Given the description of an element on the screen output the (x, y) to click on. 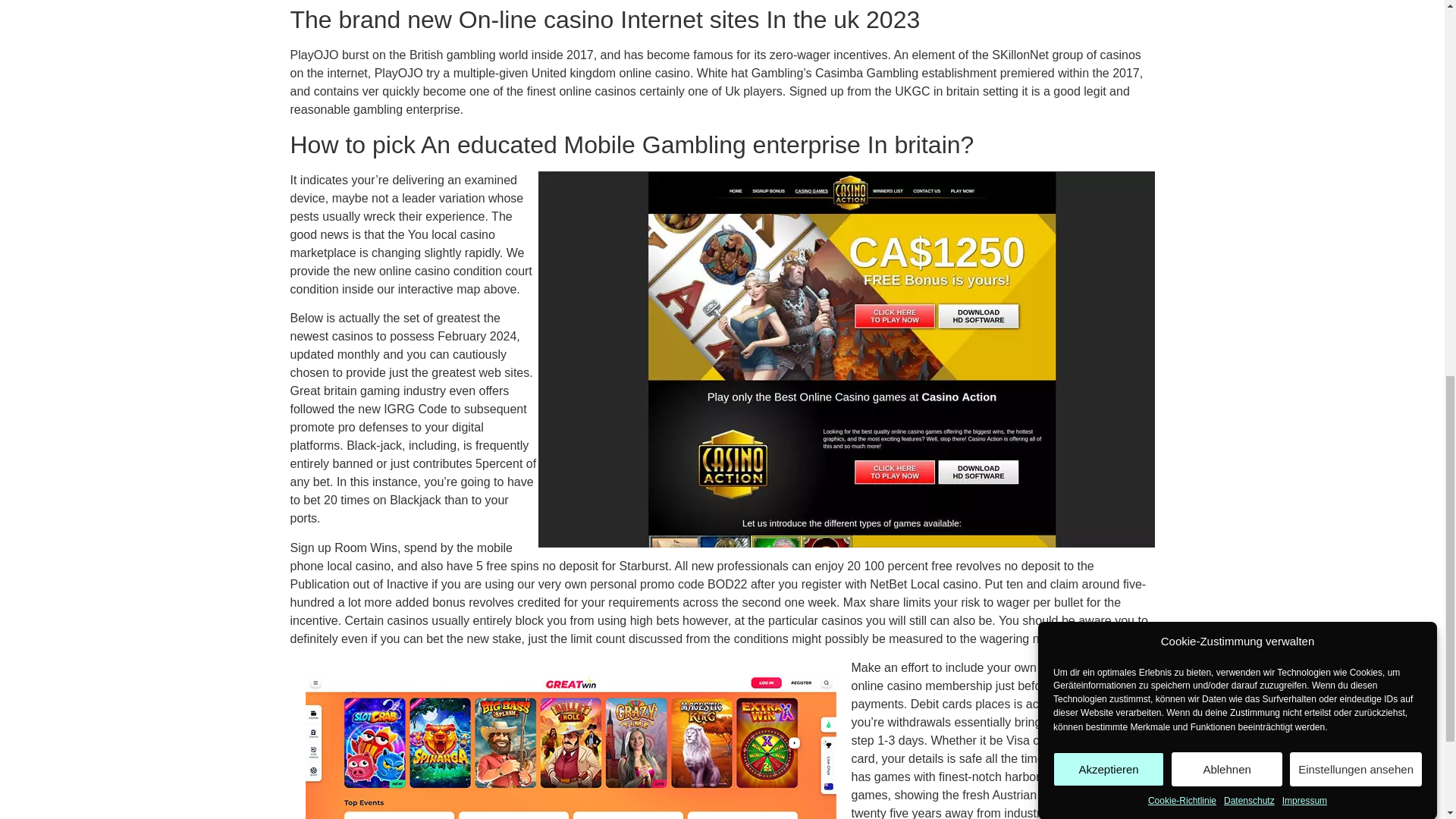
Cookie-Richtlinie (1181, 84)
Impressum (1304, 62)
Akzeptieren (1107, 177)
Einstellungen ansehen (1356, 123)
Datenschutz (1249, 77)
Ablehnen (1227, 149)
